Given the description of an element on the screen output the (x, y) to click on. 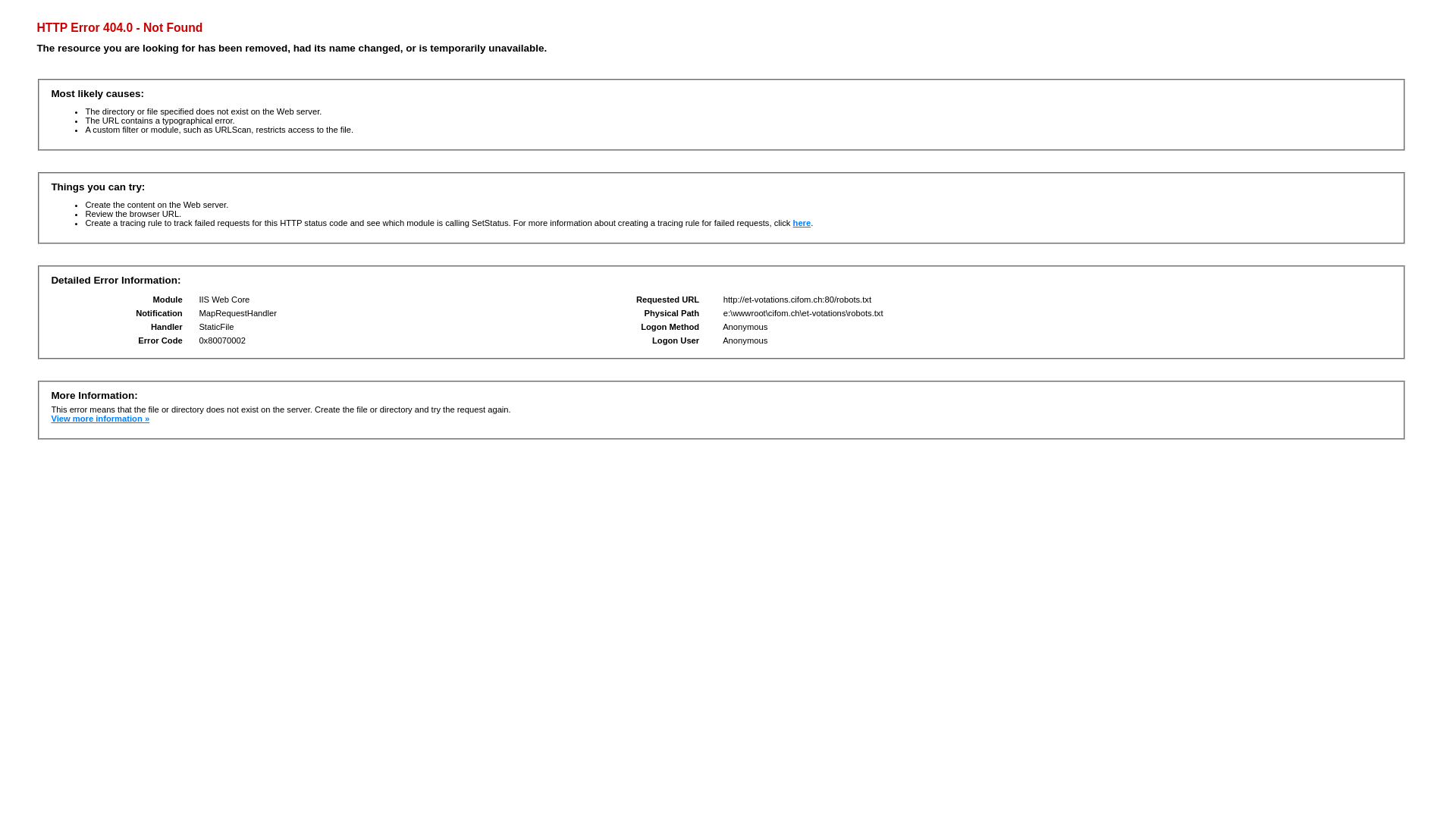
here Element type: text (802, 222)
